Given the description of an element on the screen output the (x, y) to click on. 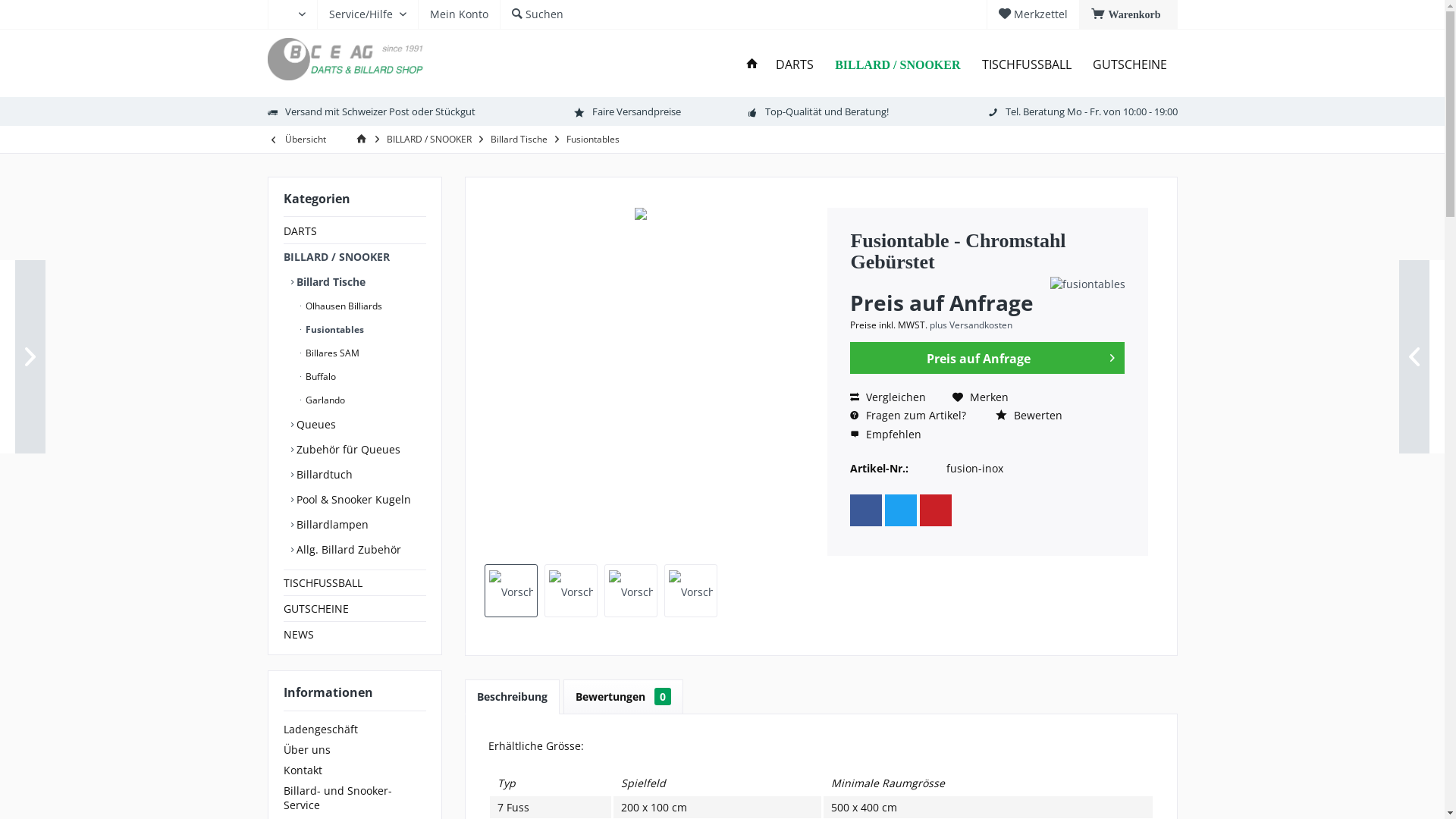
Merken Element type: text (980, 396)
GUTSCHEINE Element type: text (1128, 64)
Vergleichen Element type: text (887, 396)
Preis auf Anfrage Element type: text (987, 357)
BILLARD / SNOOKER Element type: text (354, 256)
Billares SAM Element type: text (362, 352)
GUTSCHEINE Element type: text (354, 608)
Home Element type: hover (752, 64)
Billardtuch Element type: text (358, 473)
Warenkorb Element type: text (1128, 13)
NEWS Element type: text (354, 633)
Fragen zum Artikel? Element type: text (908, 415)
plus Versandkosten Element type: text (970, 324)
TISCHFUSSBALL Element type: text (1025, 64)
TISCHFUSSBALL Element type: text (354, 582)
Fusiontables Element type: text (592, 138)
Buffalo Element type: text (362, 376)
Billard Tische Element type: text (358, 281)
Bewertungen 0 Element type: text (622, 696)
Bewertung abgeben Element type: hover (947, 282)
Merkzettel Element type: text (1032, 13)
DARTS Element type: text (794, 64)
Mein Konto Element type: text (458, 13)
Kontakt Element type: text (354, 769)
Billard- und Snooker-Service Element type: text (354, 797)
Olhausen Billiards Element type: text (362, 305)
Garlando Element type: text (362, 399)
DARTS Element type: text (354, 230)
BILLARD / SNOOKER Element type: text (897, 65)
BILLARD / SNOOKER Element type: text (428, 138)
Queues Element type: text (358, 423)
Fusiontables Element type: text (362, 329)
Pool & Snooker Kugeln Element type: text (358, 498)
Beschreibung Element type: text (511, 696)
Empfehlen Element type: text (885, 434)
Billardlampen Element type: text (358, 523)
Bewerten Element type: text (1028, 415)
Billard Tische Element type: text (518, 138)
Weitere Artikel von fusiontables Element type: hover (1086, 283)
